Given the description of an element on the screen output the (x, y) to click on. 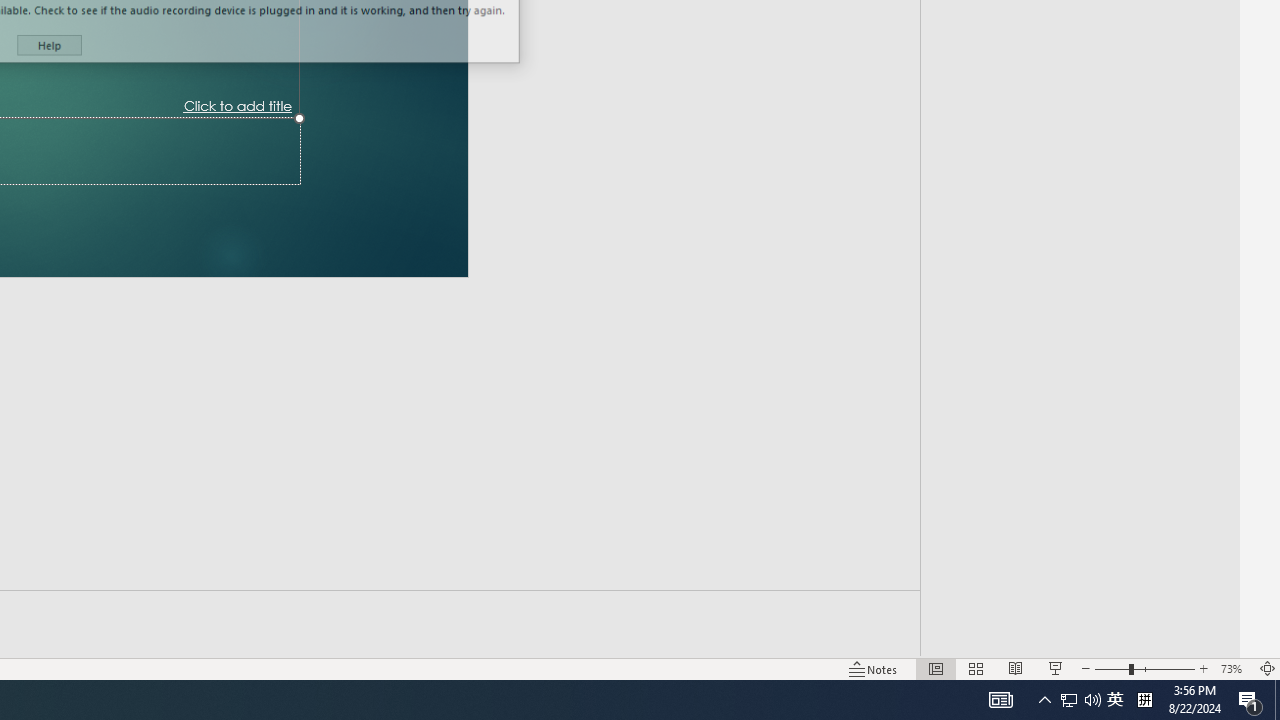
Zoom 73% (1234, 668)
